Given the description of an element on the screen output the (x, y) to click on. 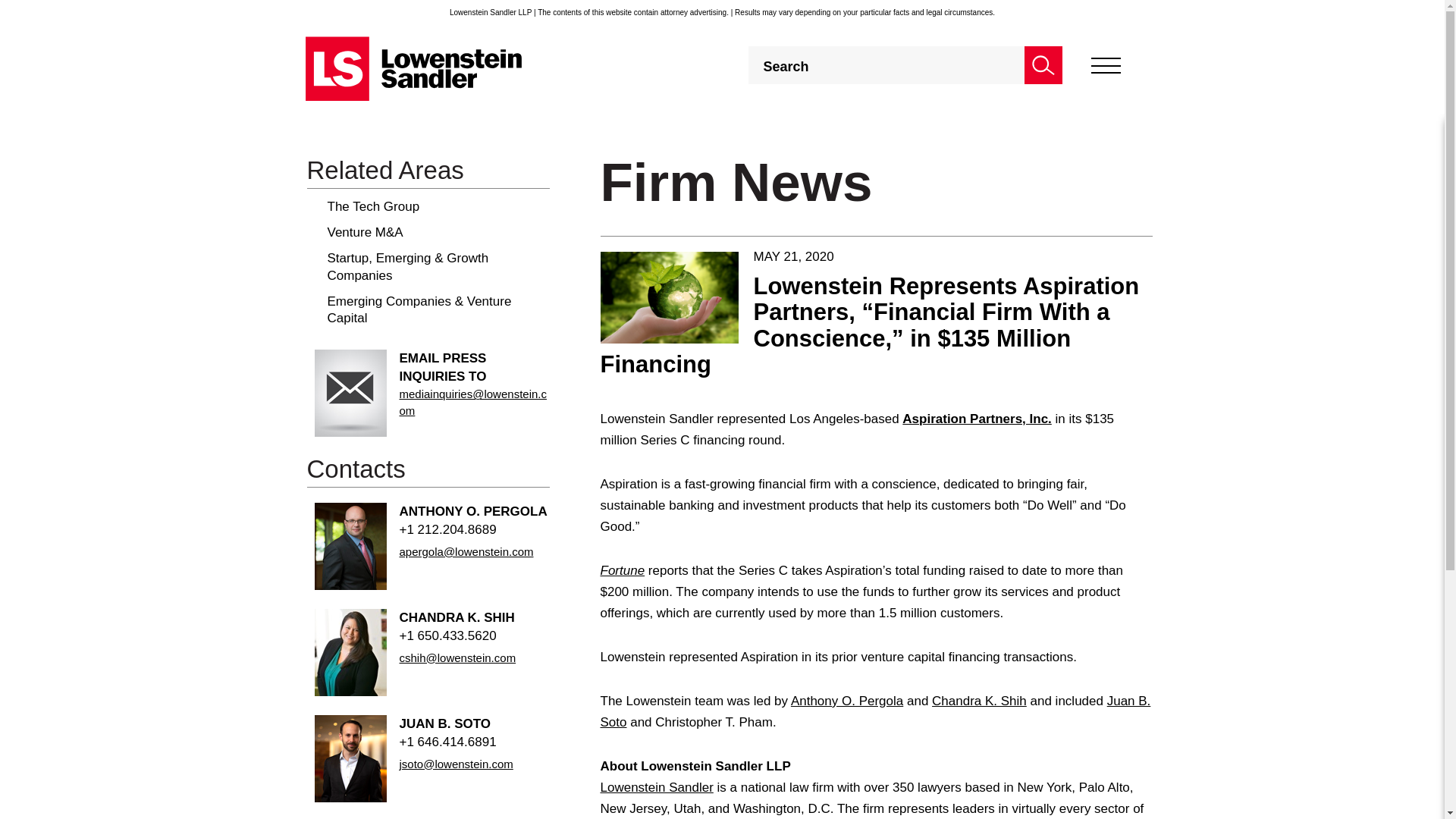
logo-pre (412, 68)
Search (1042, 64)
Hamburger (1104, 65)
Hamburger (1104, 65)
Search (1042, 64)
